Given the description of an element on the screen output the (x, y) to click on. 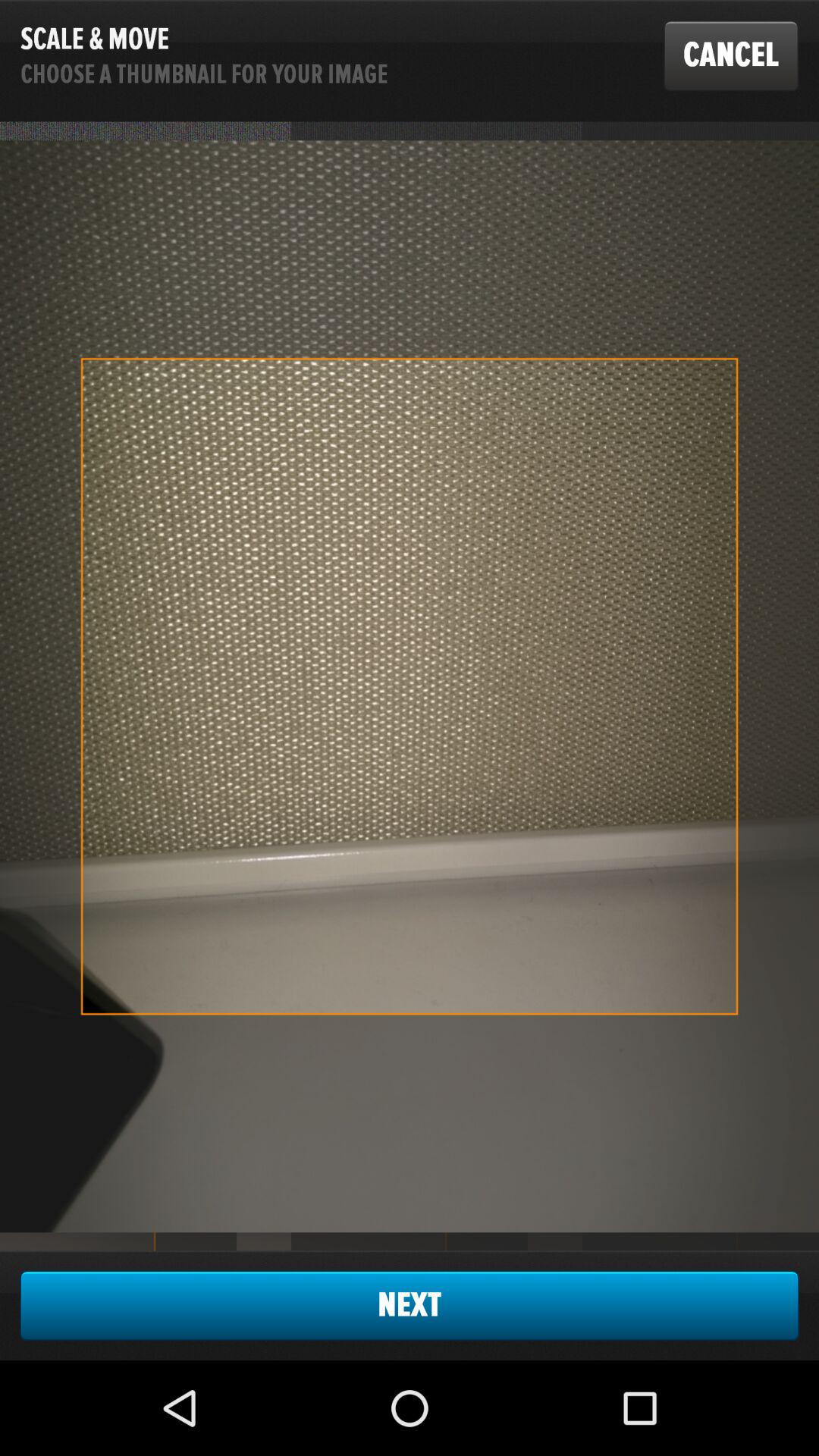
scroll until the next icon (409, 1305)
